Given the description of an element on the screen output the (x, y) to click on. 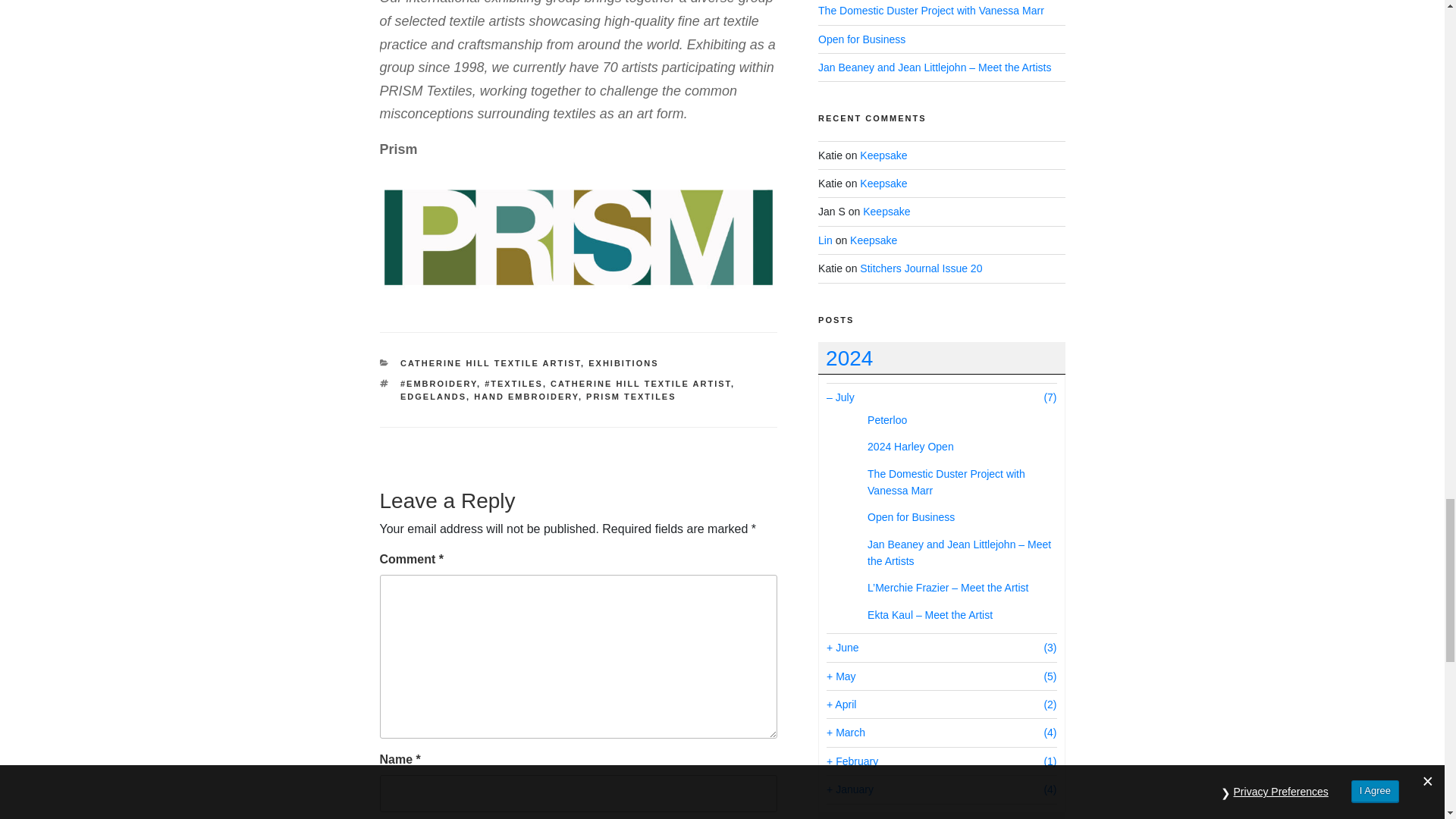
EXHIBITIONS (623, 362)
Stitchers Journal Issue 20 (920, 268)
2024 (941, 358)
Keepsake (883, 183)
Peterloo (887, 419)
Lin (825, 240)
2024 Harley Open (910, 446)
EDGELANDS (432, 396)
HAND EMBROIDERY (526, 396)
Keepsake (886, 211)
CATHERINE HILL TEXTILE ARTIST (490, 362)
CATHERINE HILL TEXTILE ARTIST (640, 383)
PRISM TEXTILES (630, 396)
The Domestic Duster Project with Vanessa Marr (930, 10)
Keepsake (873, 240)
